Given the description of an element on the screen output the (x, y) to click on. 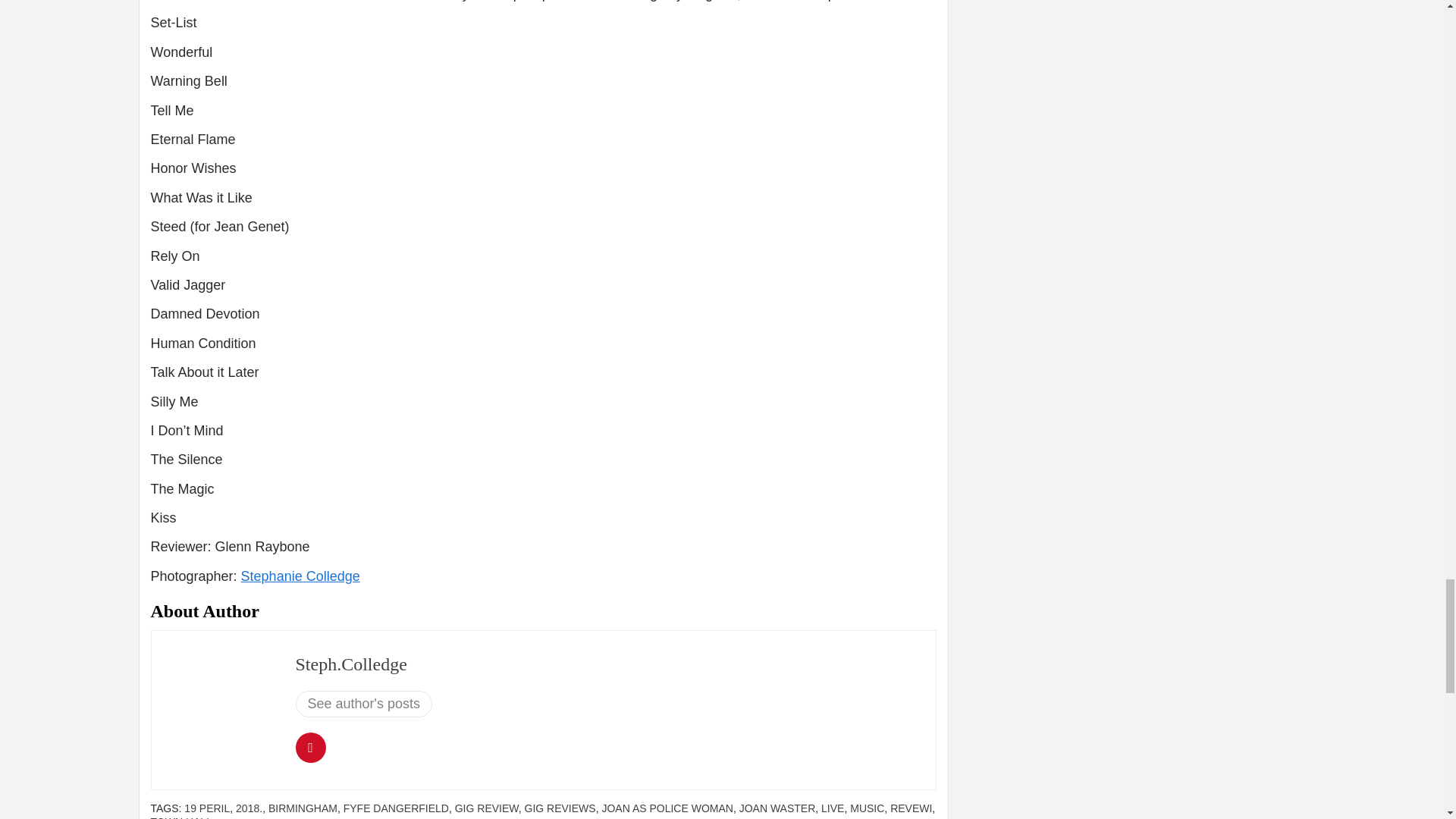
2018. (248, 808)
See author's posts (363, 704)
REVEWI (910, 808)
Stephanie Colledge (300, 575)
LIVE (832, 808)
GIG REVIEWS (559, 808)
JOAN AS POLICE WOMAN (666, 808)
19 PERIL (207, 808)
MUSIC (866, 808)
GIG REVIEW (486, 808)
